Given the description of an element on the screen output the (x, y) to click on. 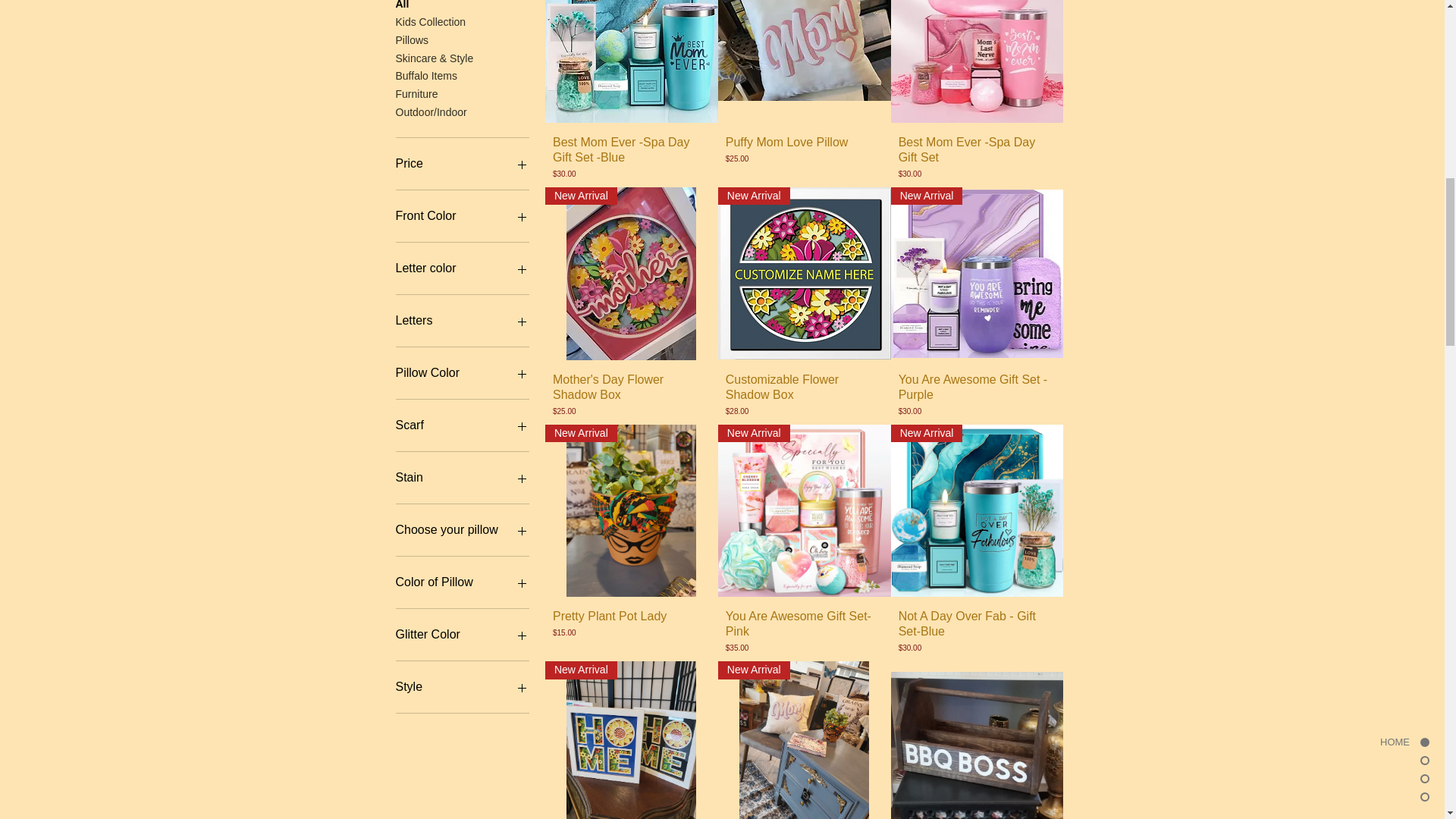
New Arrival (630, 61)
Style (462, 686)
Letters (462, 320)
Choose your pillow (462, 529)
Stain (462, 477)
New Arrival (804, 61)
Scarf (462, 424)
Glitter Color (462, 634)
Letter color (462, 268)
New Arrival (630, 511)
